Given the description of an element on the screen output the (x, y) to click on. 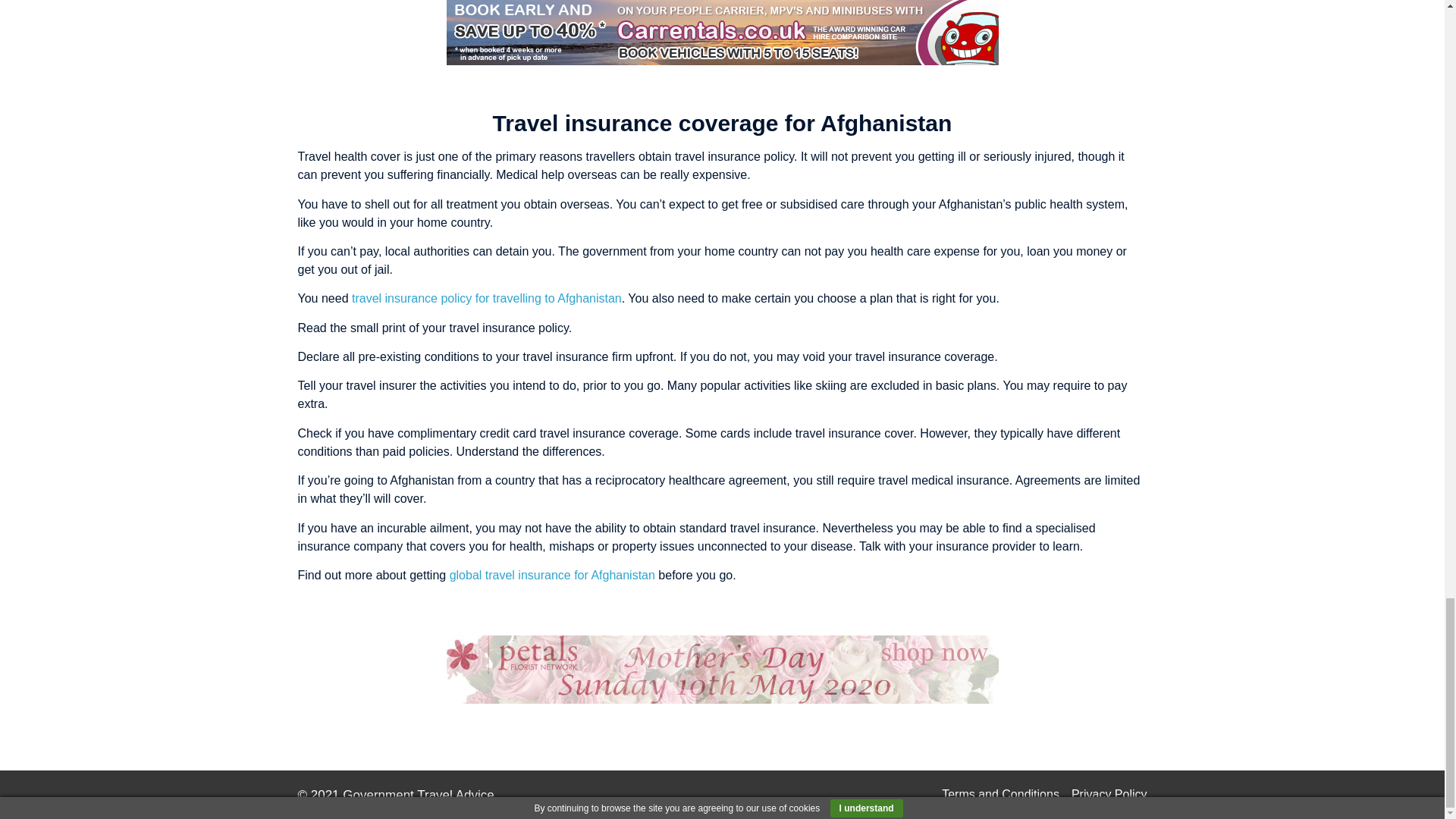
Terms and Conditions (1000, 794)
Privacy Policy (1109, 794)
global travel insurance for Afghanistan (552, 574)
travel insurance policy for travelling to Afghanistan (486, 297)
